Given the description of an element on the screen output the (x, y) to click on. 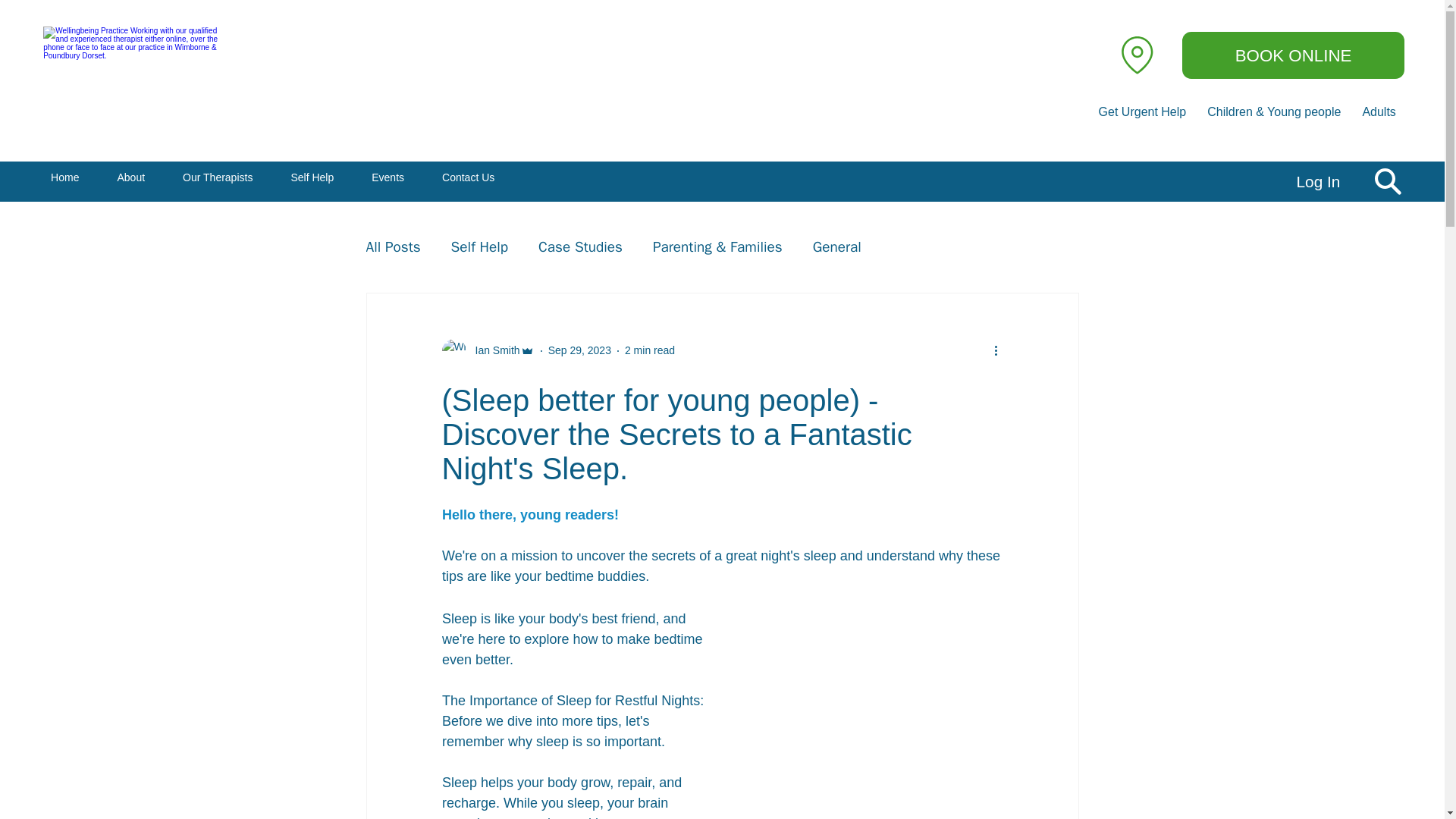
General (836, 247)
BOOK ONLINE (1292, 54)
Get Urgent Help (1141, 111)
Sep 29, 2023 (579, 349)
Our Therapists (525, 176)
2 min read (217, 176)
Home (649, 349)
All Posts (64, 176)
Ian Smith (392, 247)
